Given the description of an element on the screen output the (x, y) to click on. 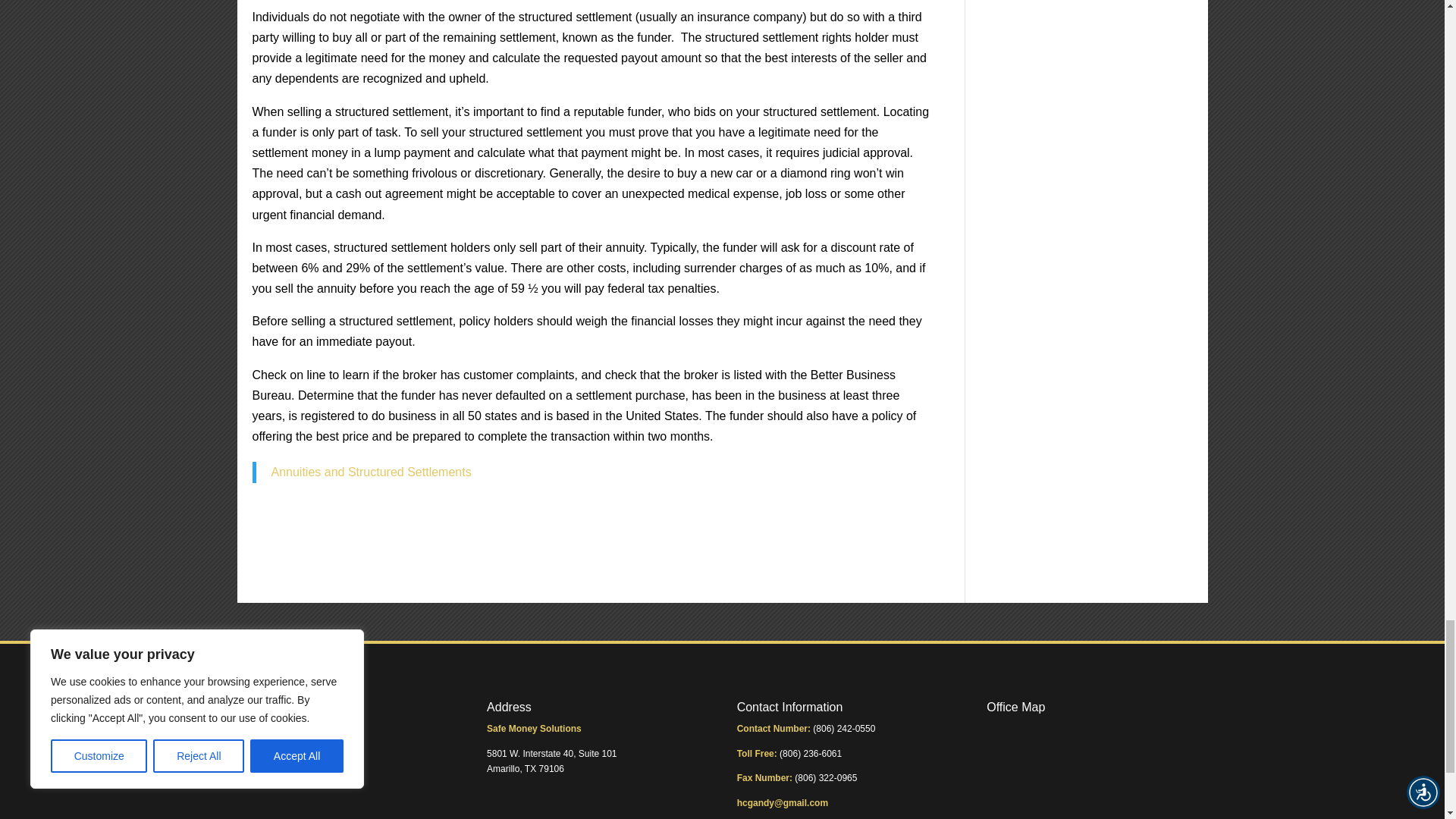
Annuities and Structured Settlements (370, 472)
